Given the description of an element on the screen output the (x, y) to click on. 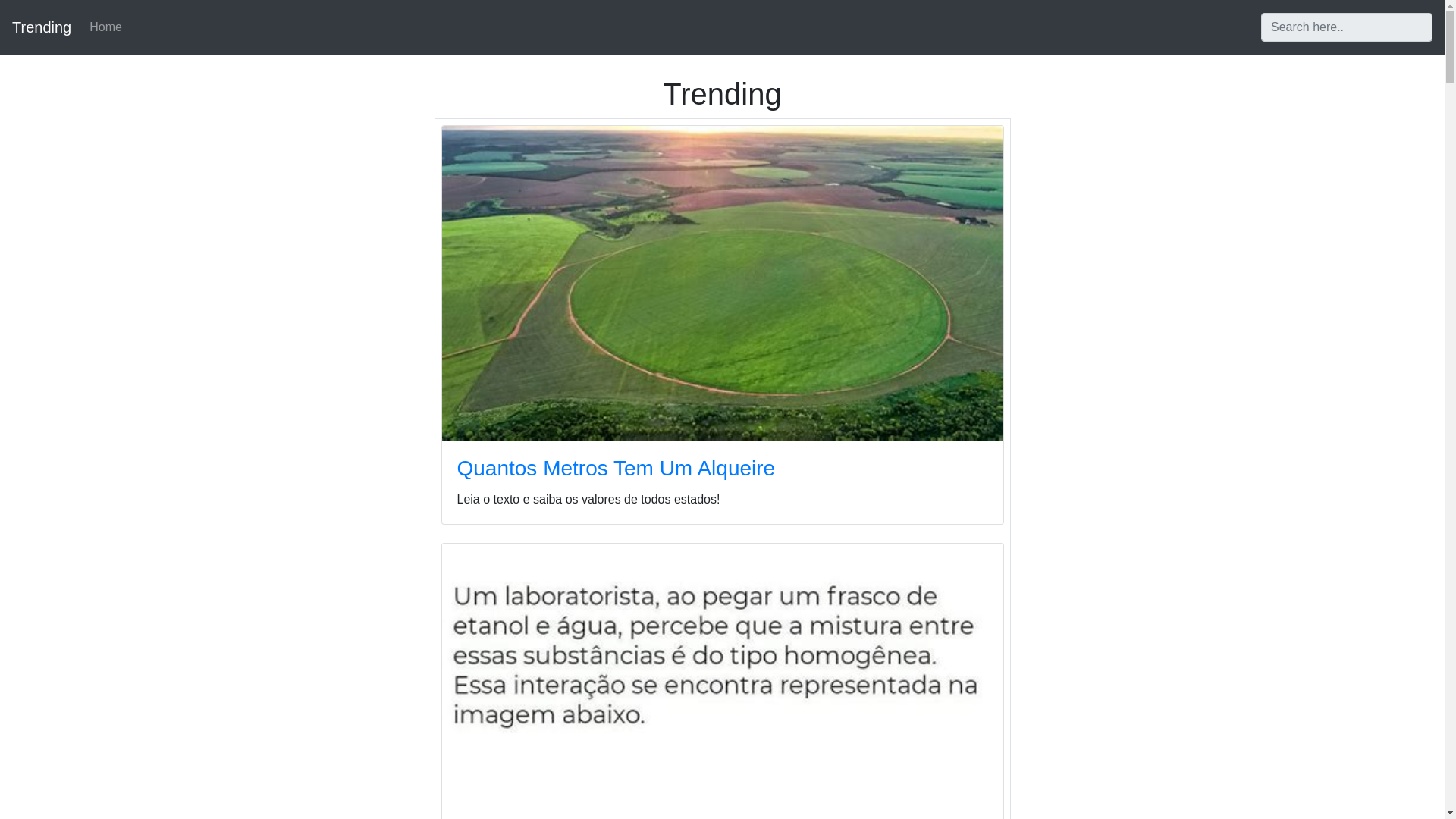
Quantos Metros Tem Um Alqueire (615, 467)
Trending (41, 27)
Home (105, 27)
